Given the description of an element on the screen output the (x, y) to click on. 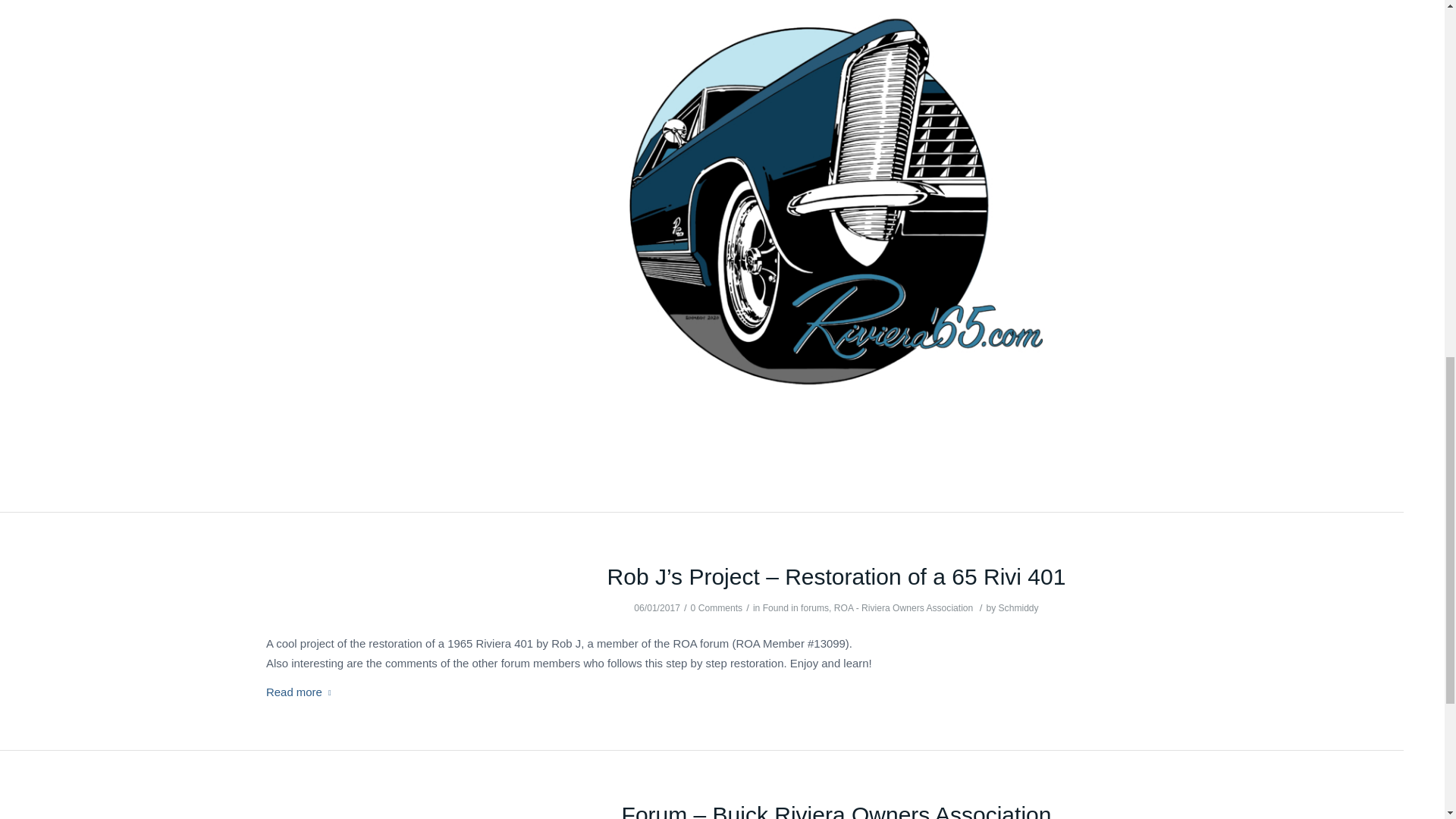
ROA - Riviera Owners Association (903, 607)
Read more (301, 692)
Schmiddy (1018, 607)
Posts by Schmiddy (1018, 607)
Found in forums (795, 607)
0 Comments (716, 607)
